Given the description of an element on the screen output the (x, y) to click on. 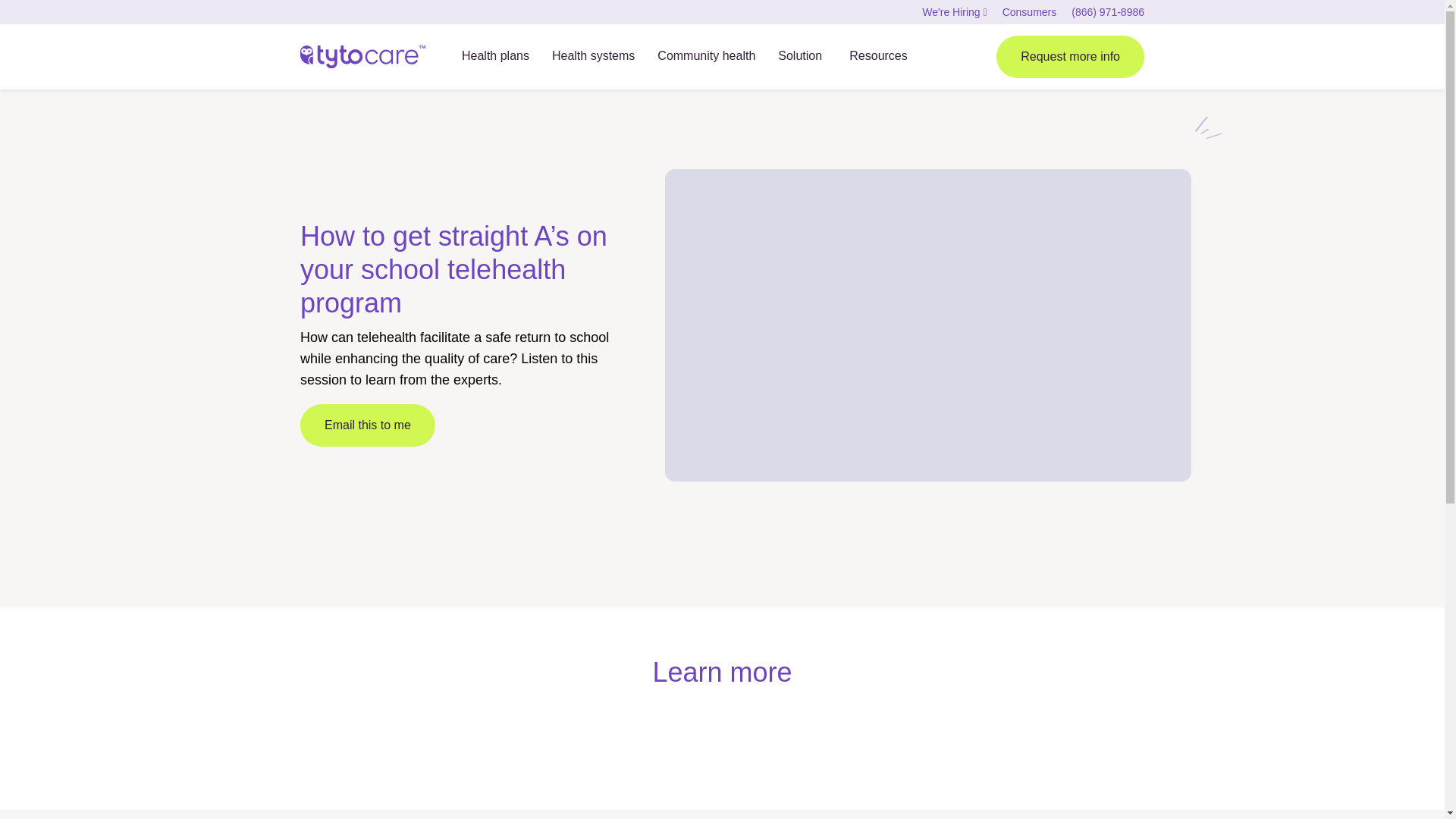
Consumers (1030, 11)
Solution (802, 58)
Resources (877, 58)
Community health (706, 58)
Email this to me (367, 425)
Request more info (1069, 56)
Health plans (495, 58)
Health systems (592, 58)
